Given the description of an element on the screen output the (x, y) to click on. 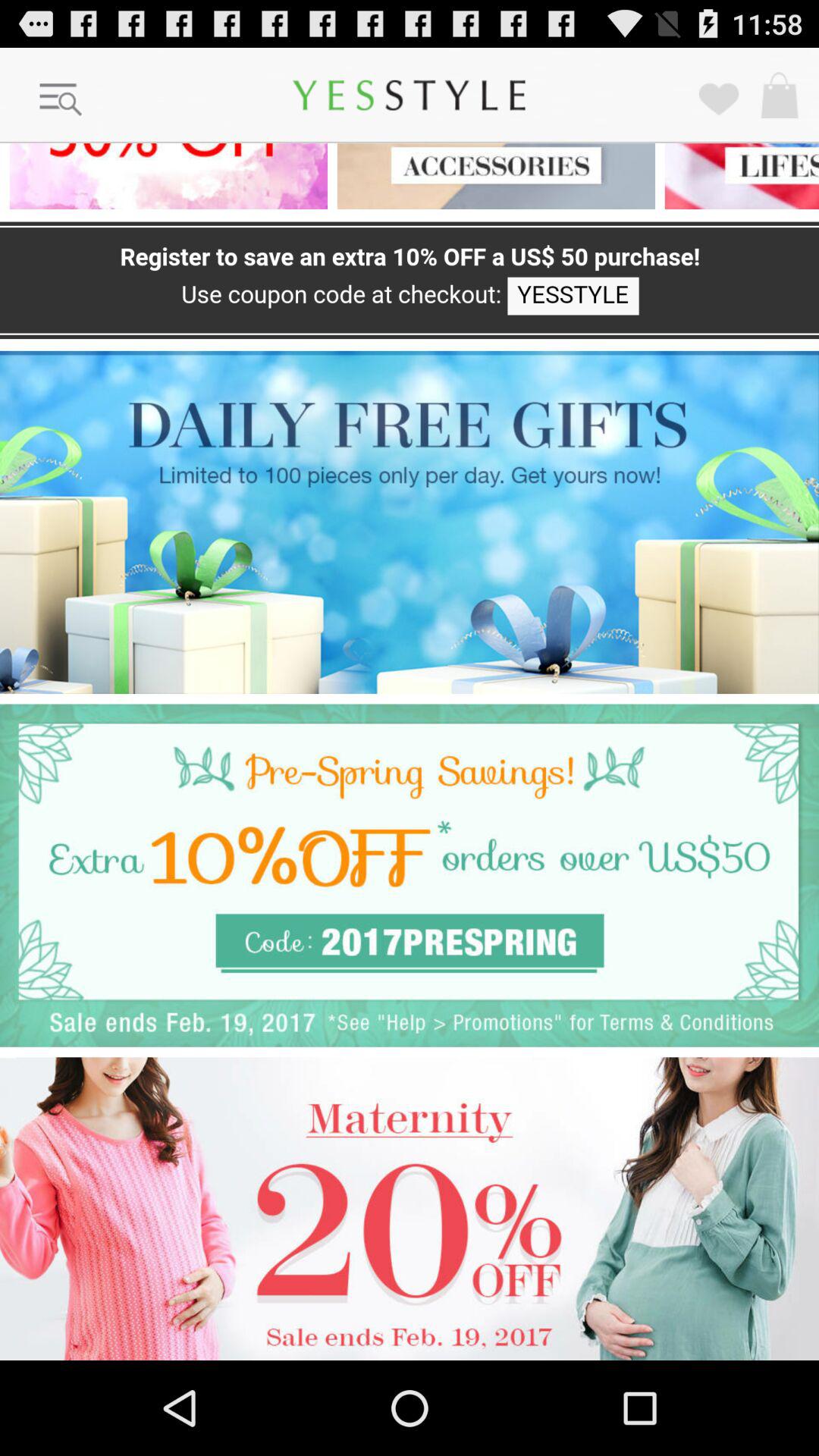
advertisement page (409, 1208)
